Given the description of an element on the screen output the (x, y) to click on. 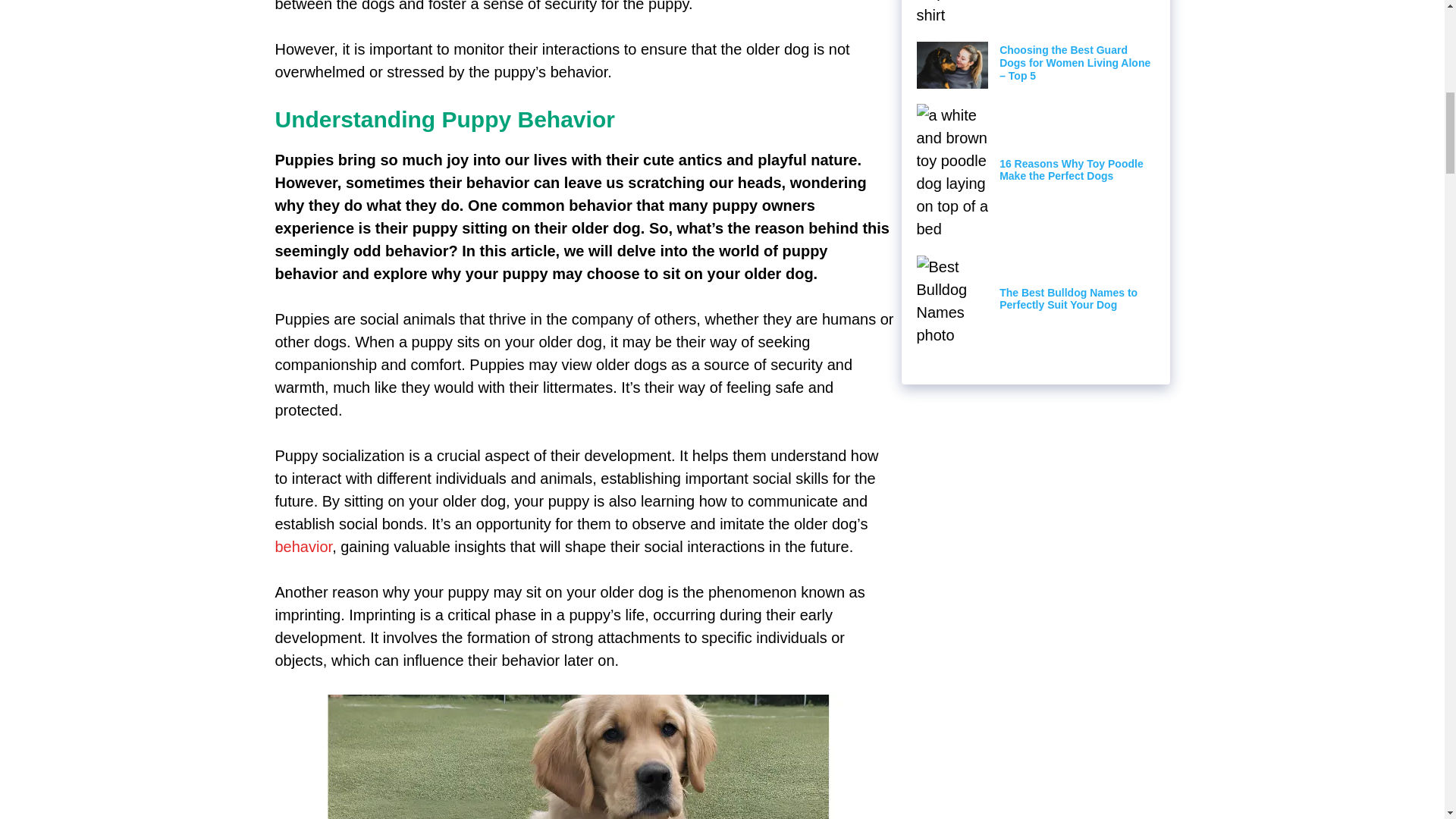
The Best Bulldog Names to Perfectly Suit Your Dog (1067, 299)
Study Behavior: Why Does My Puppy Sit on My Older Dog? 2 (577, 756)
Scroll back to top (1406, 720)
behavior (303, 546)
16 Reasons Why Toy Poodle Make the Perfect Dogs (1070, 170)
